Given the description of an element on the screen output the (x, y) to click on. 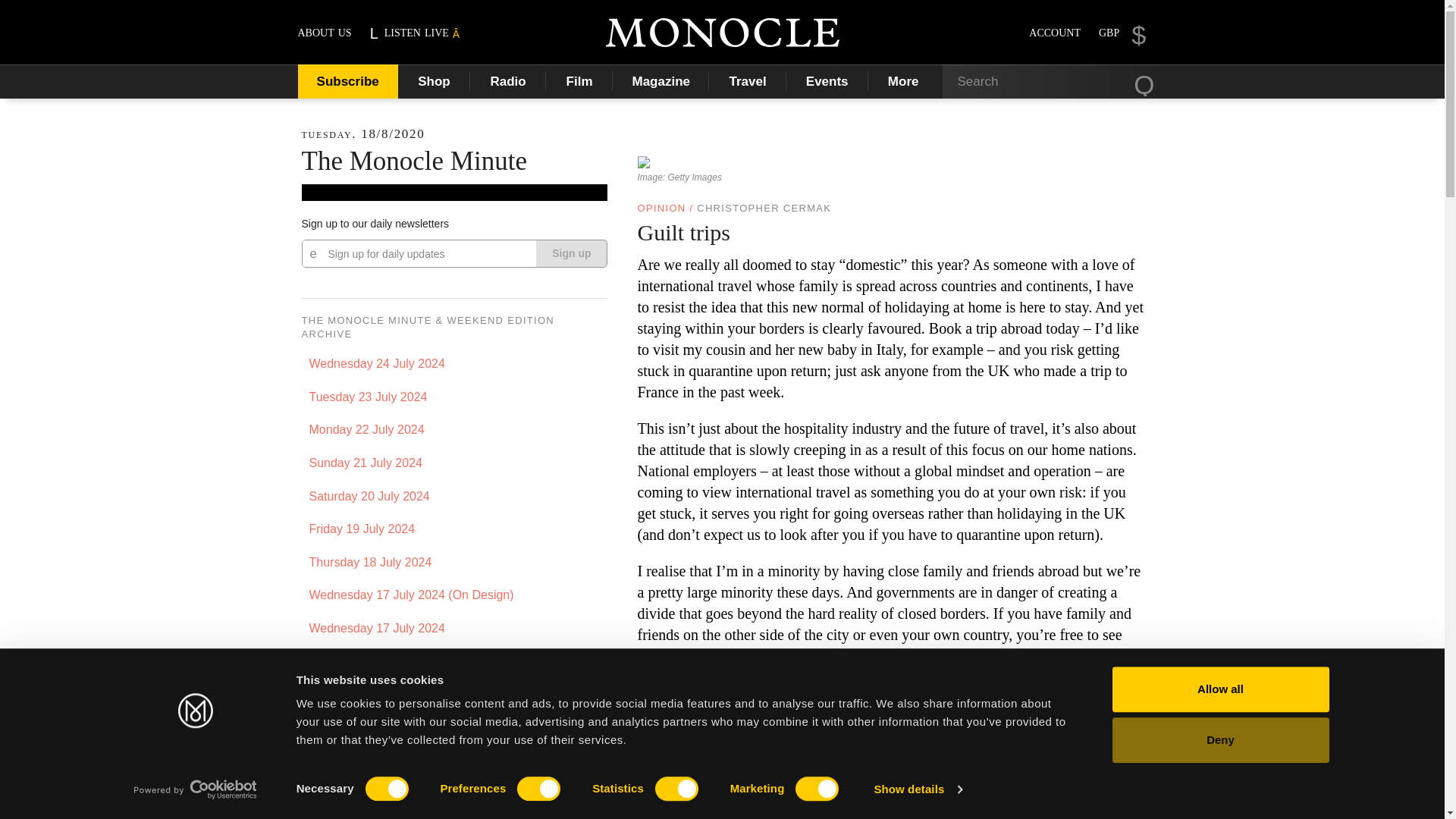
Show details (916, 789)
